Given the description of an element on the screen output the (x, y) to click on. 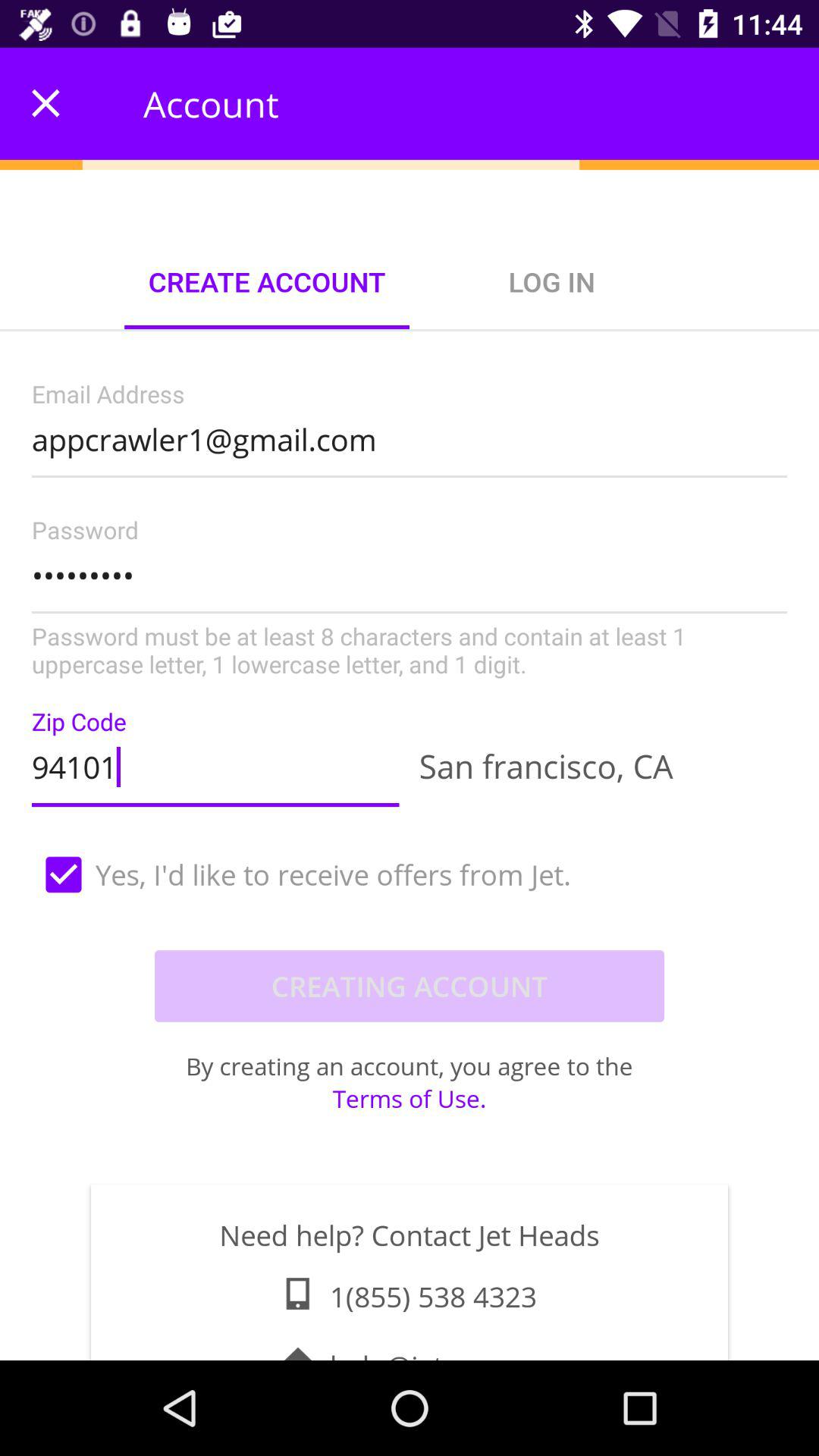
launch 94101 (215, 762)
